Given the description of an element on the screen output the (x, y) to click on. 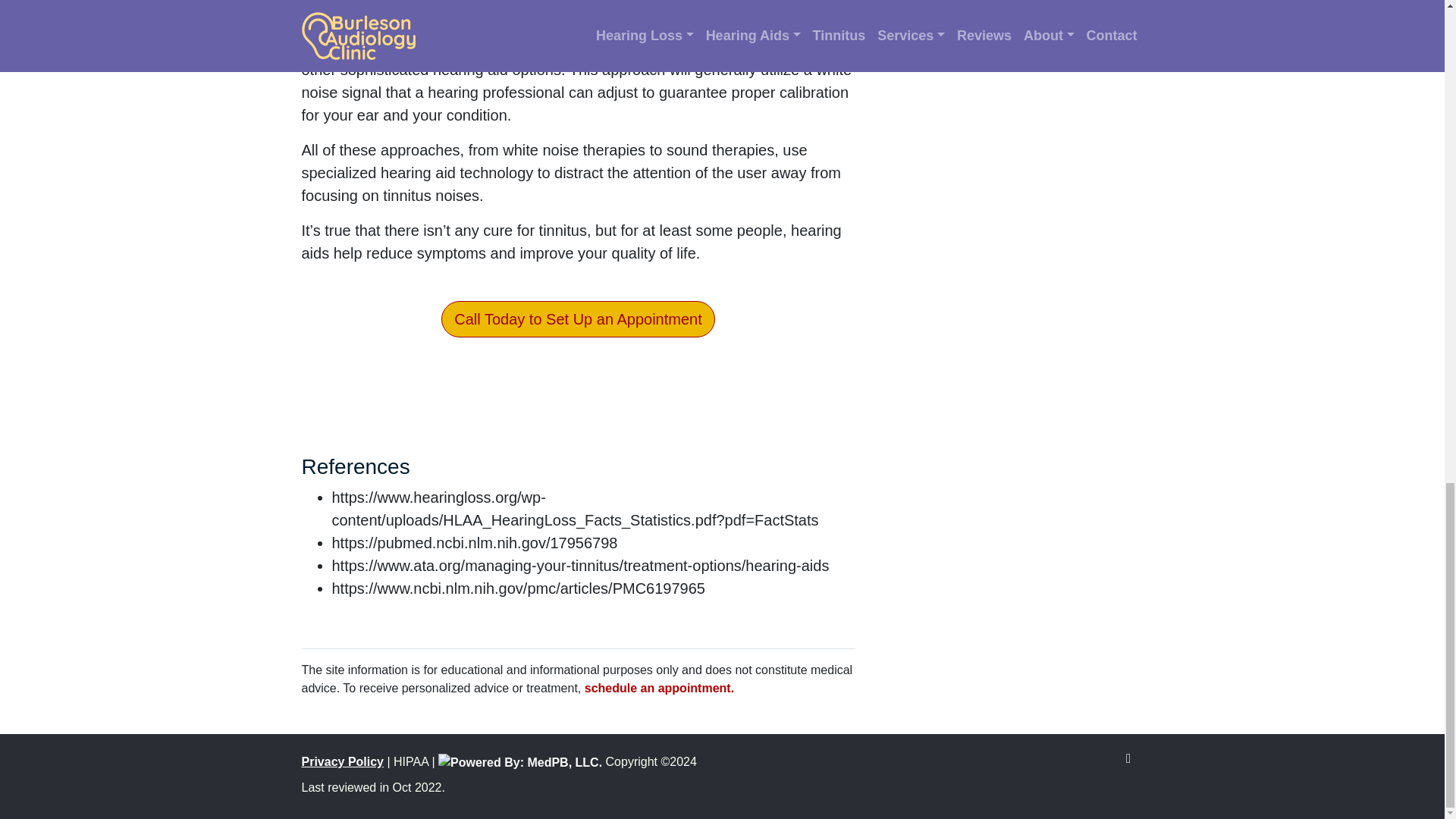
Call Today to Set Up an Appointment (577, 319)
schedule an appointment. (659, 687)
MedPB: Medical Practice Building, Marketing, Websites (520, 761)
